Given the description of an element on the screen output the (x, y) to click on. 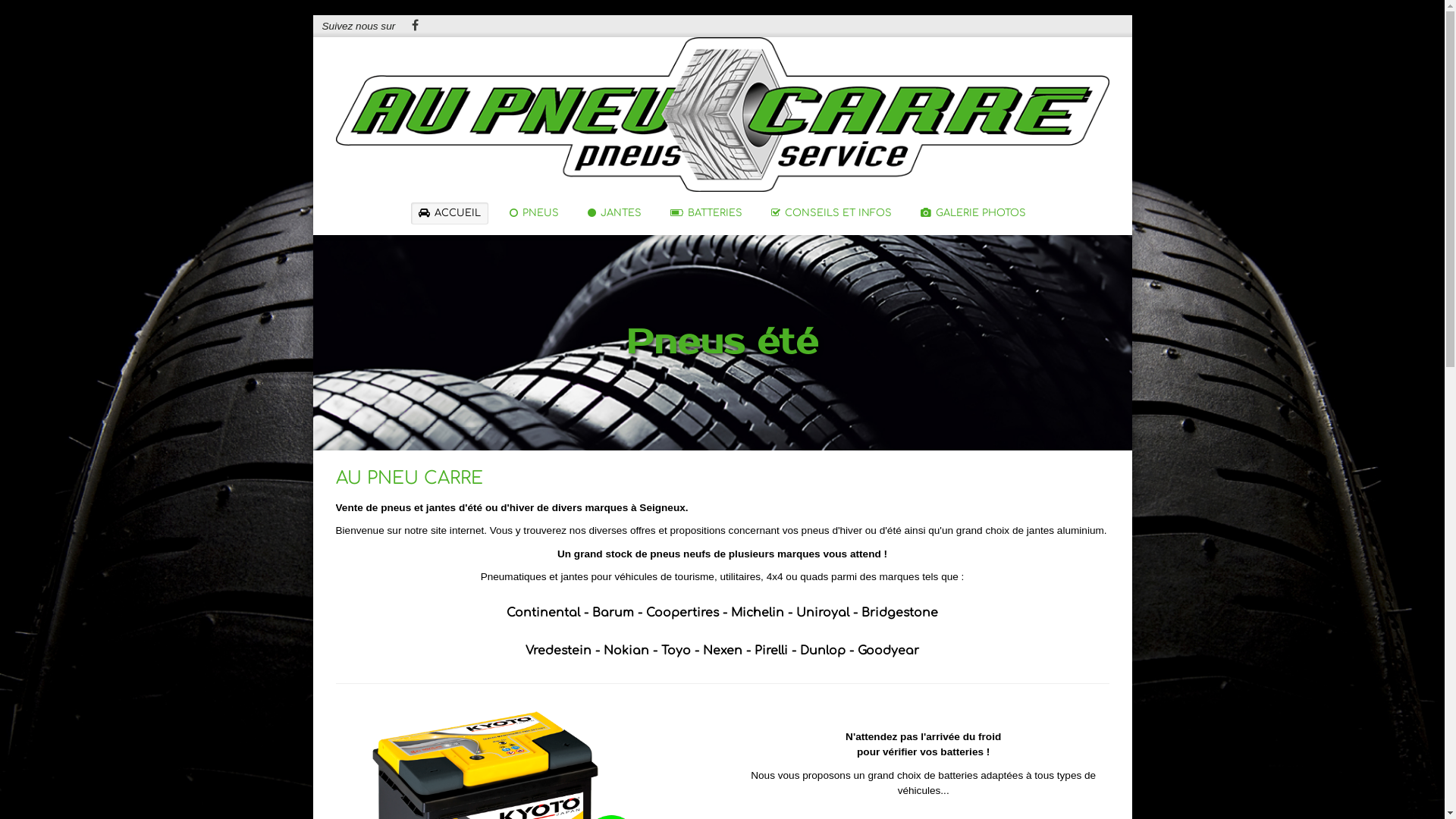
BATTERIES Element type: text (705, 213)
GALERIE PHOTOS Element type: text (973, 213)
JANTES Element type: text (614, 213)
Facebook Element type: hover (414, 26)
CONSEILS ET INFOS Element type: text (831, 213)
ACCUEIL Element type: text (449, 213)
PNEUS Element type: text (534, 213)
